Given the description of an element on the screen output the (x, y) to click on. 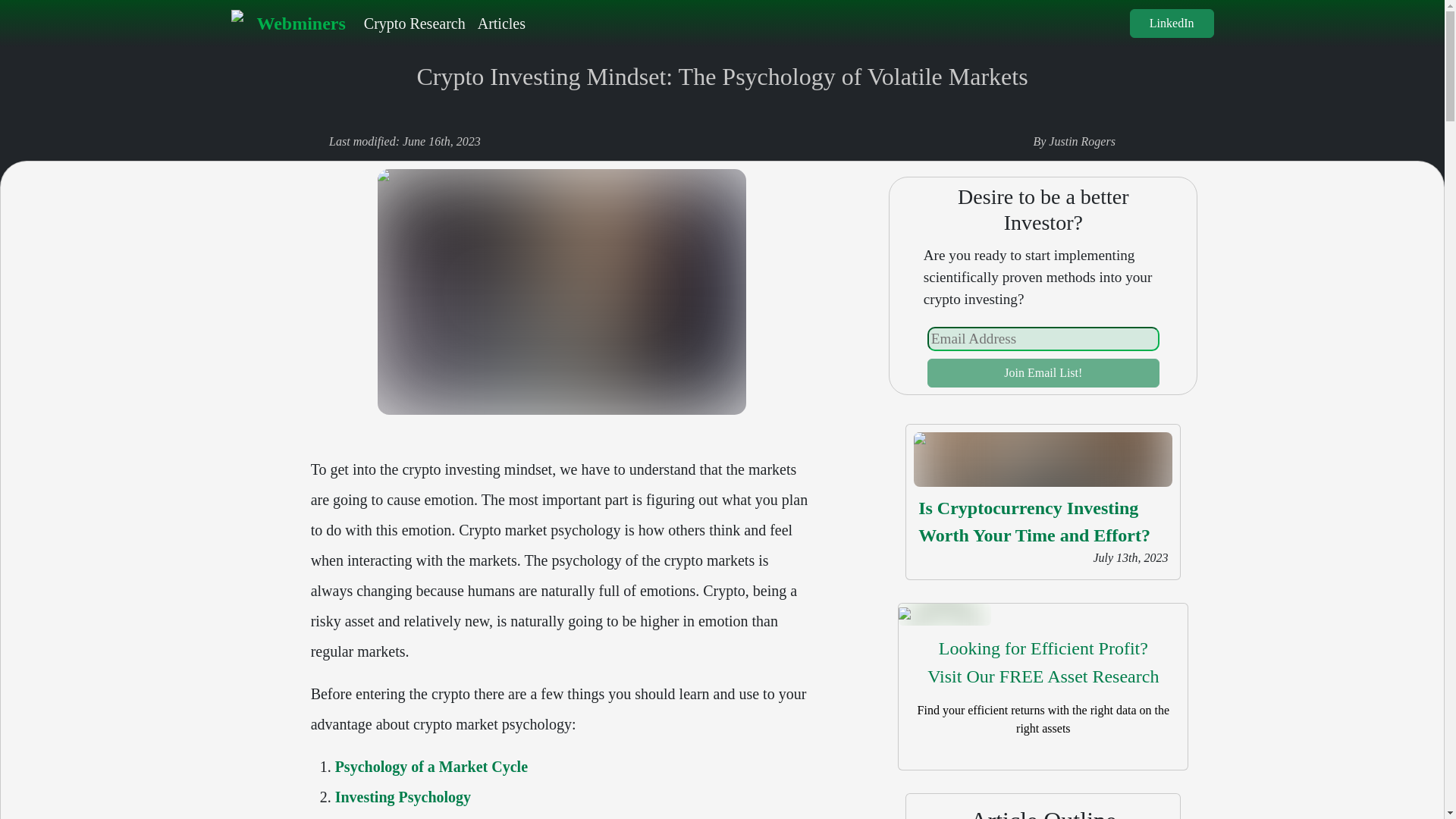
Join Email List! (1042, 372)
Psychology of a Market Cycle (430, 766)
Articles (1043, 662)
LinkedIn (501, 22)
Crypto Research (1171, 23)
Investing Psychology (414, 22)
Is Cryptocurrency Investing Worth Your Time and Effort? (402, 796)
Webminers (1034, 521)
